Given the description of an element on the screen output the (x, y) to click on. 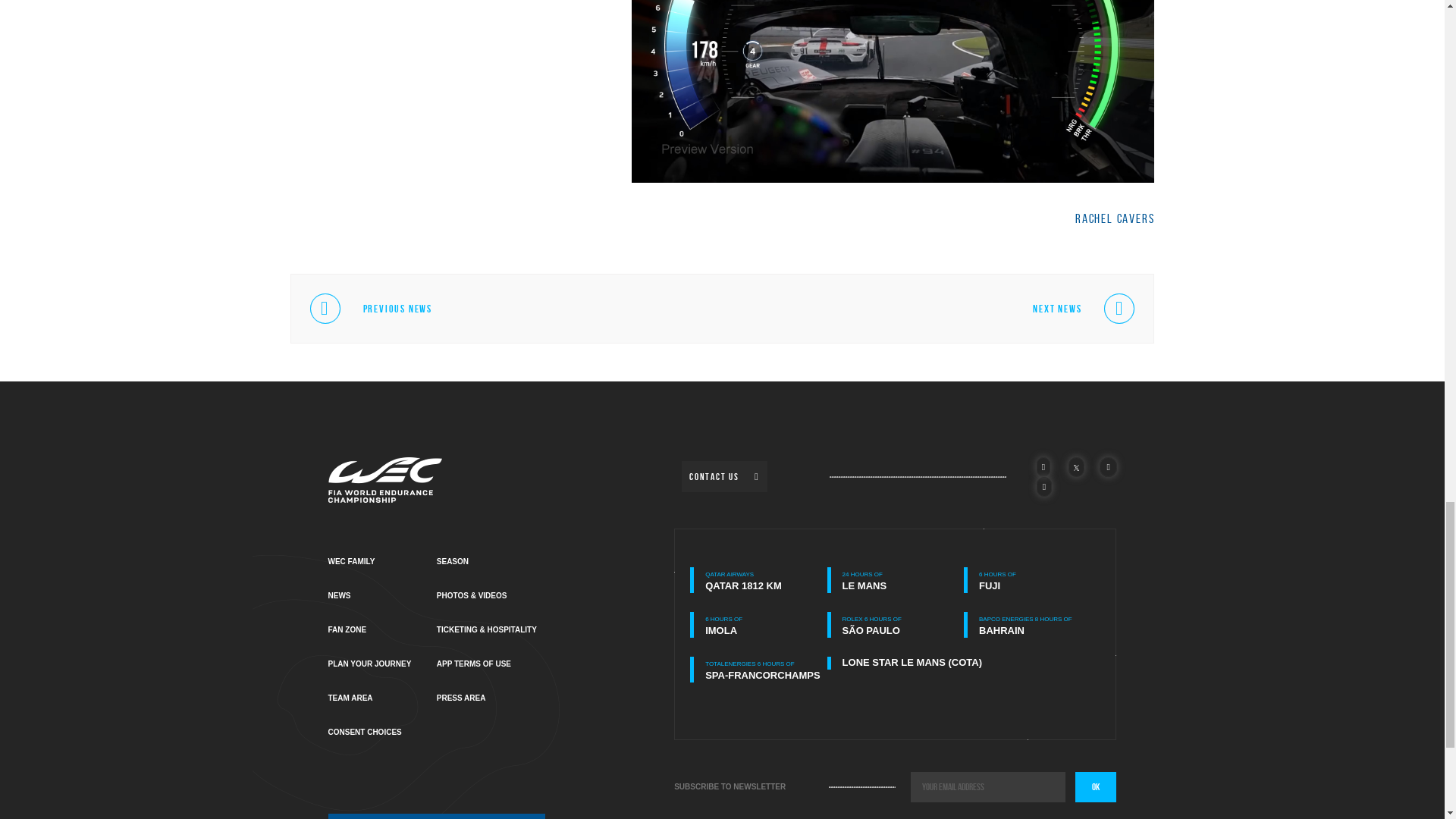
Ok (1095, 787)
